Given the description of an element on the screen output the (x, y) to click on. 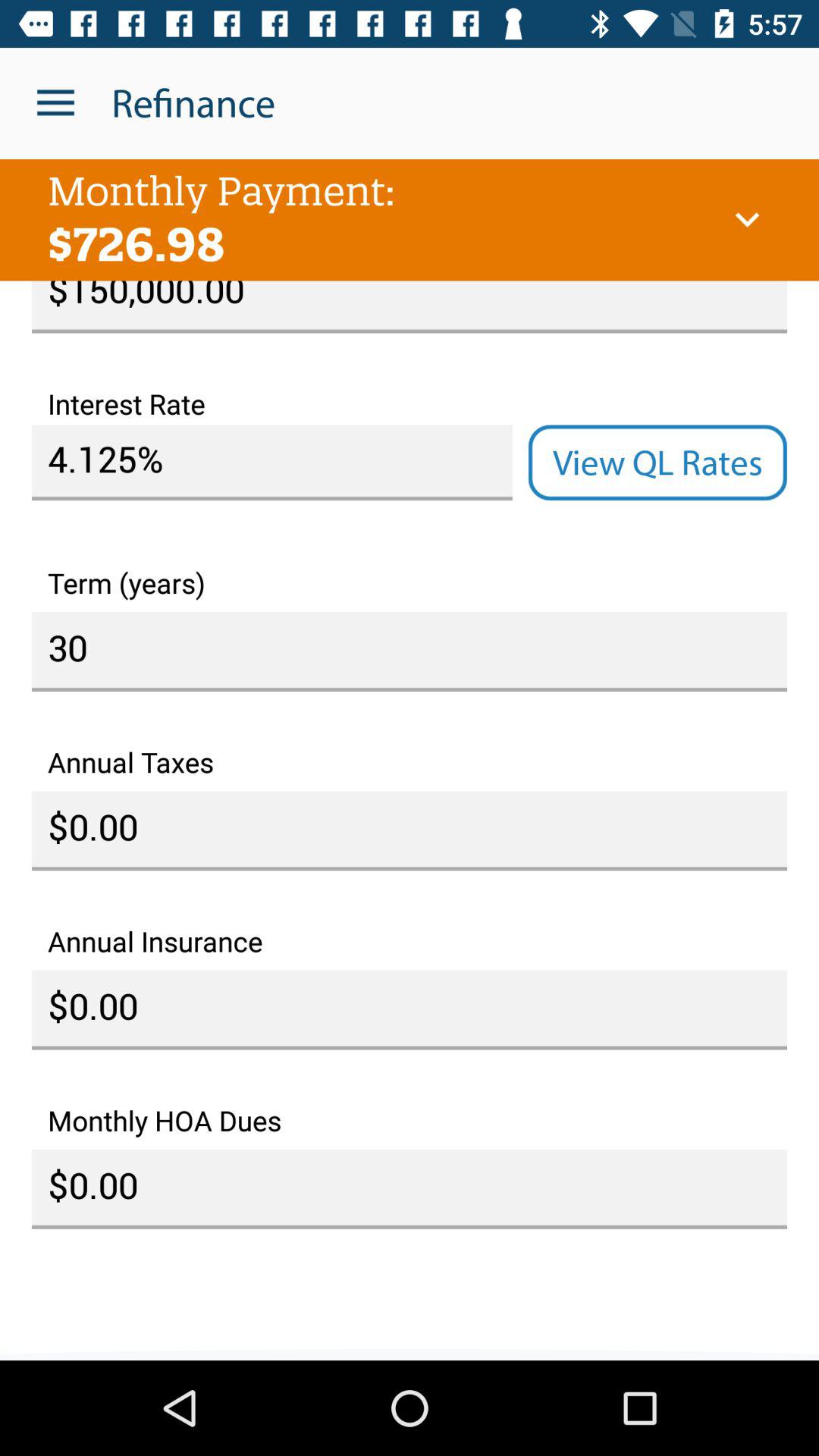
click the icon below term (years) (409, 651)
